Given the description of an element on the screen output the (x, y) to click on. 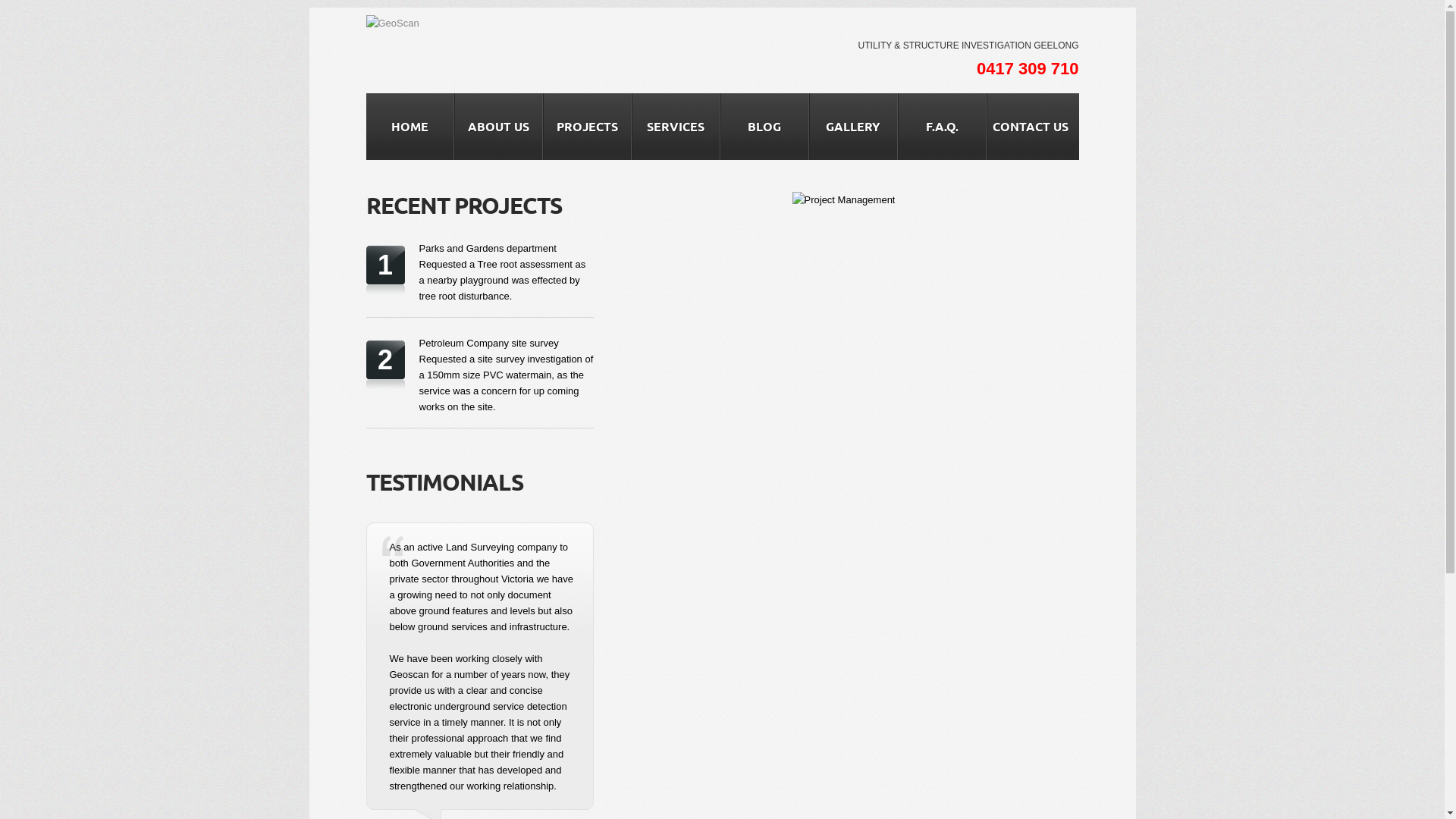
BLOG Element type: text (763, 126)
SERVICES Element type: text (675, 126)
GALLERY Element type: text (853, 126)
PROJECTS Element type: text (586, 126)
GeoScan - Utility & Structural Investigation Element type: hover (391, 22)
CONTACT US Element type: text (1030, 126)
HOME Element type: text (408, 126)
ABOUT US Element type: text (498, 126)
F.A.Q. Element type: text (941, 126)
0417 309 710 Element type: text (1027, 68)
